Given the description of an element on the screen output the (x, y) to click on. 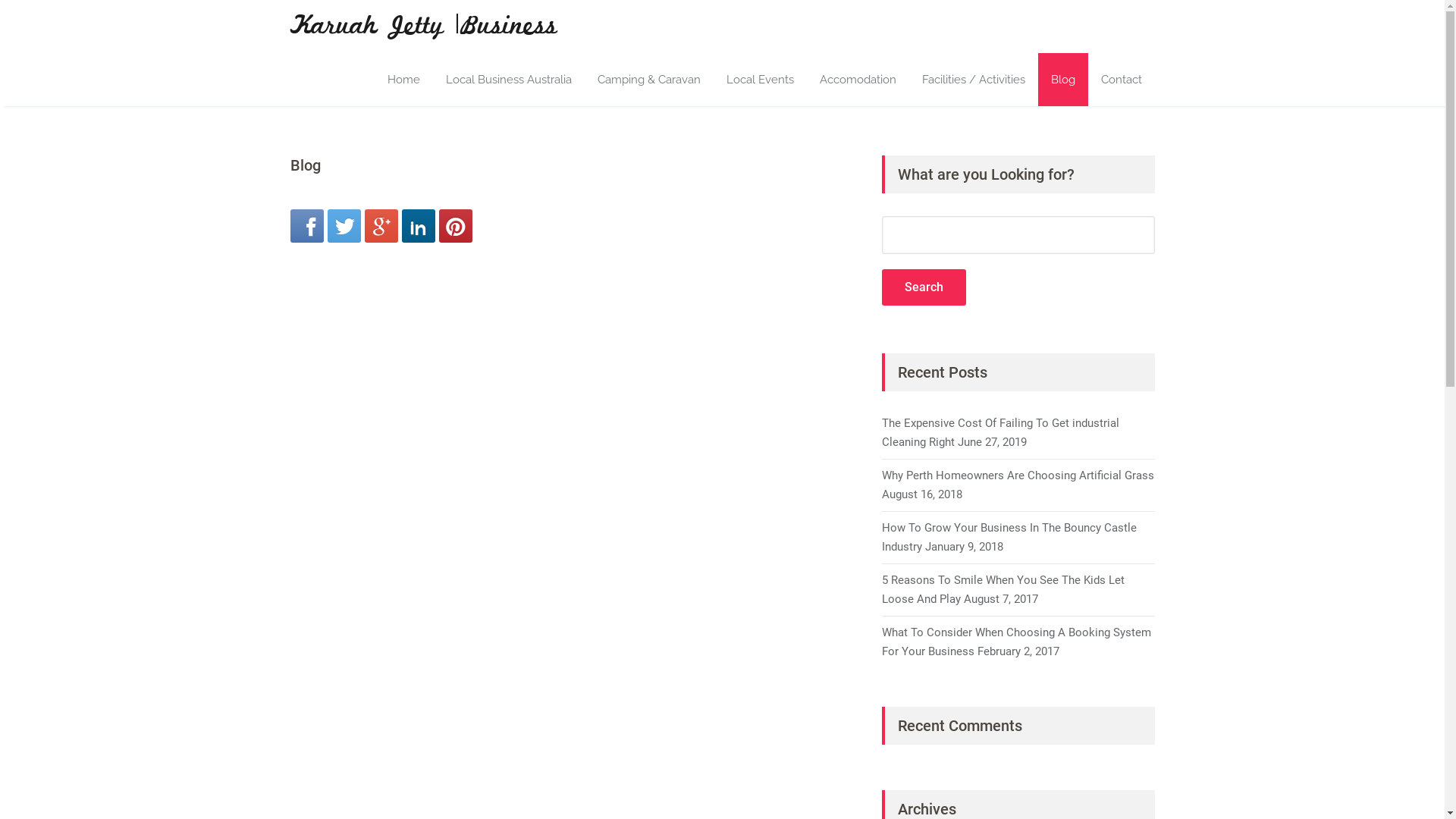
Blog Element type: text (1062, 79)
5 Reasons To Smile When You See The Kids Let Loose And Play Element type: text (1002, 589)
How To Grow Your Business In The Bouncy Castle Industry Element type: text (1008, 536)
Local Business Australia Element type: text (507, 79)
LinkedIn Element type: hover (418, 225)
Local Events Element type: text (759, 79)
Why Perth Homeowners Are Choosing Artificial Grass Element type: text (1017, 475)
Pinterest Element type: hover (454, 225)
Contact Element type: text (1120, 79)
Twitter Element type: hover (343, 225)
Google+ Element type: hover (380, 225)
Search Element type: text (923, 287)
Accomodation Element type: text (857, 79)
Karuah Jetty |Business Element type: text (422, 26)
Facebook Element type: hover (306, 225)
Camping & Caravan Element type: text (647, 79)
Facilities / Activities Element type: text (972, 79)
Home Element type: text (403, 79)
